Given the description of an element on the screen output the (x, y) to click on. 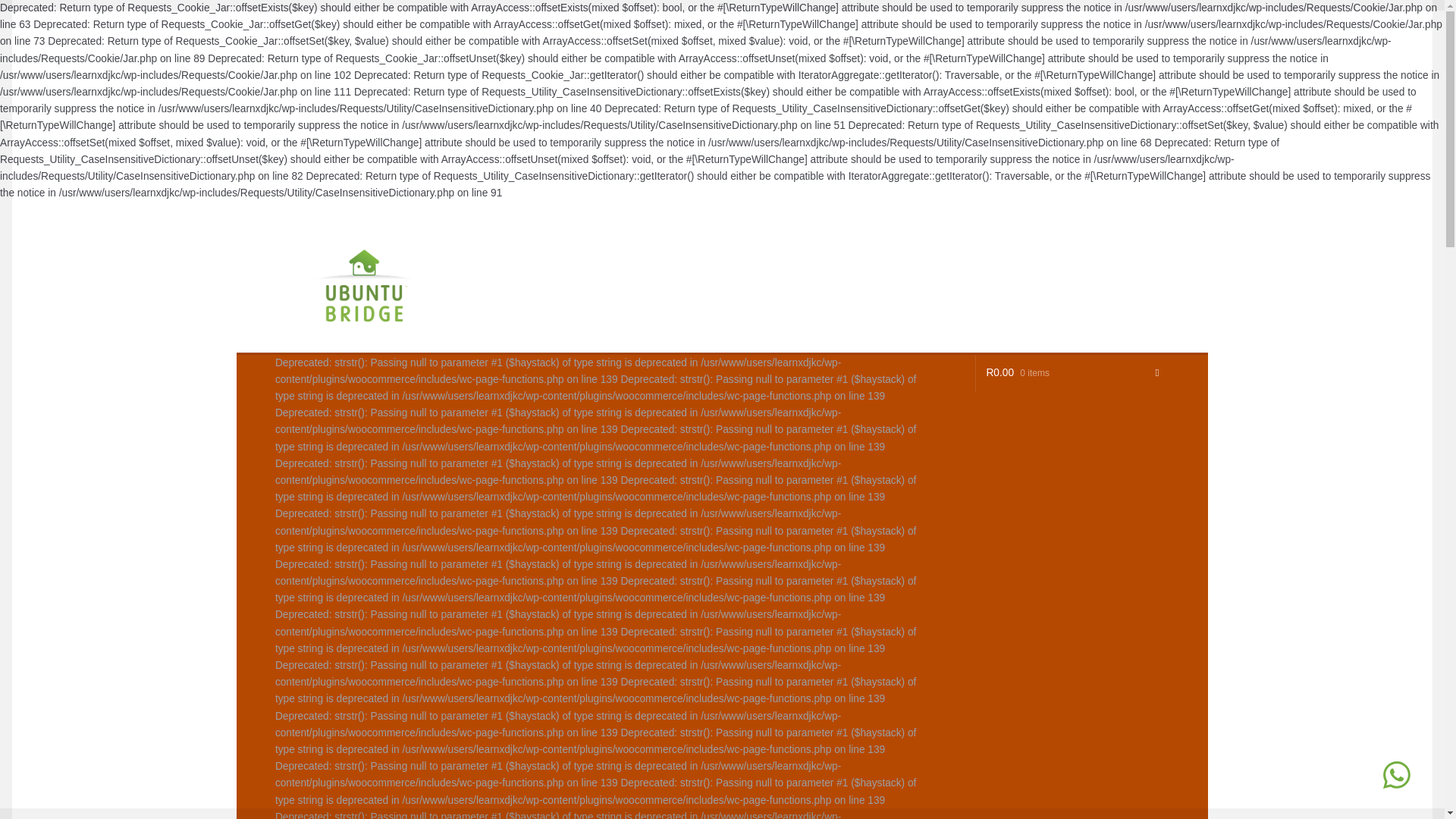
View your shopping cart (1072, 373)
